Given the description of an element on the screen output the (x, y) to click on. 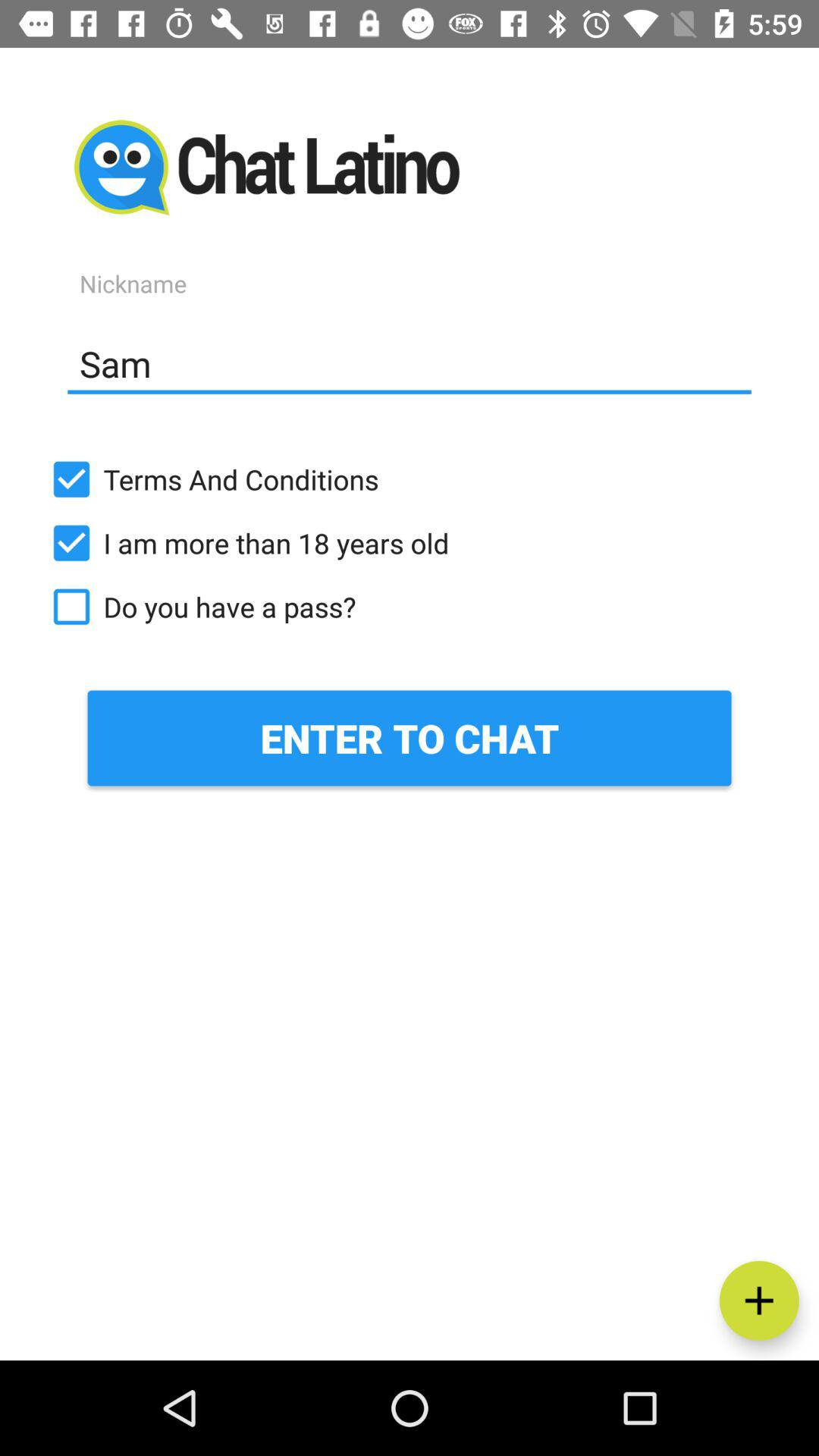
jump until enter to chat (409, 737)
